Given the description of an element on the screen output the (x, y) to click on. 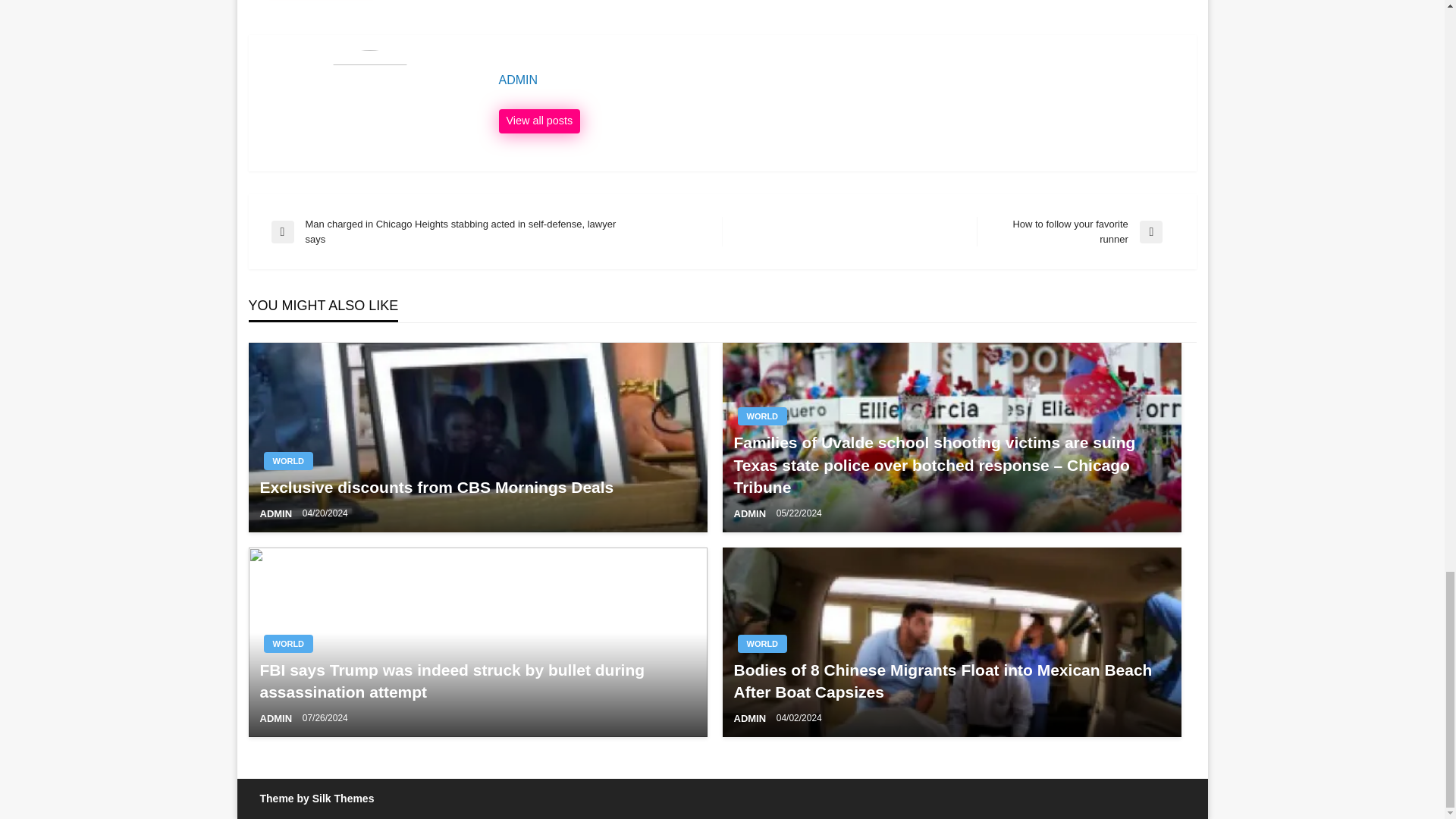
View all posts (539, 120)
WORLD (1074, 231)
WORLD (761, 416)
ADMIN (288, 643)
ADMIN (276, 717)
ADMIN (839, 79)
WORLD (539, 120)
ADMIN (288, 461)
